Given the description of an element on the screen output the (x, y) to click on. 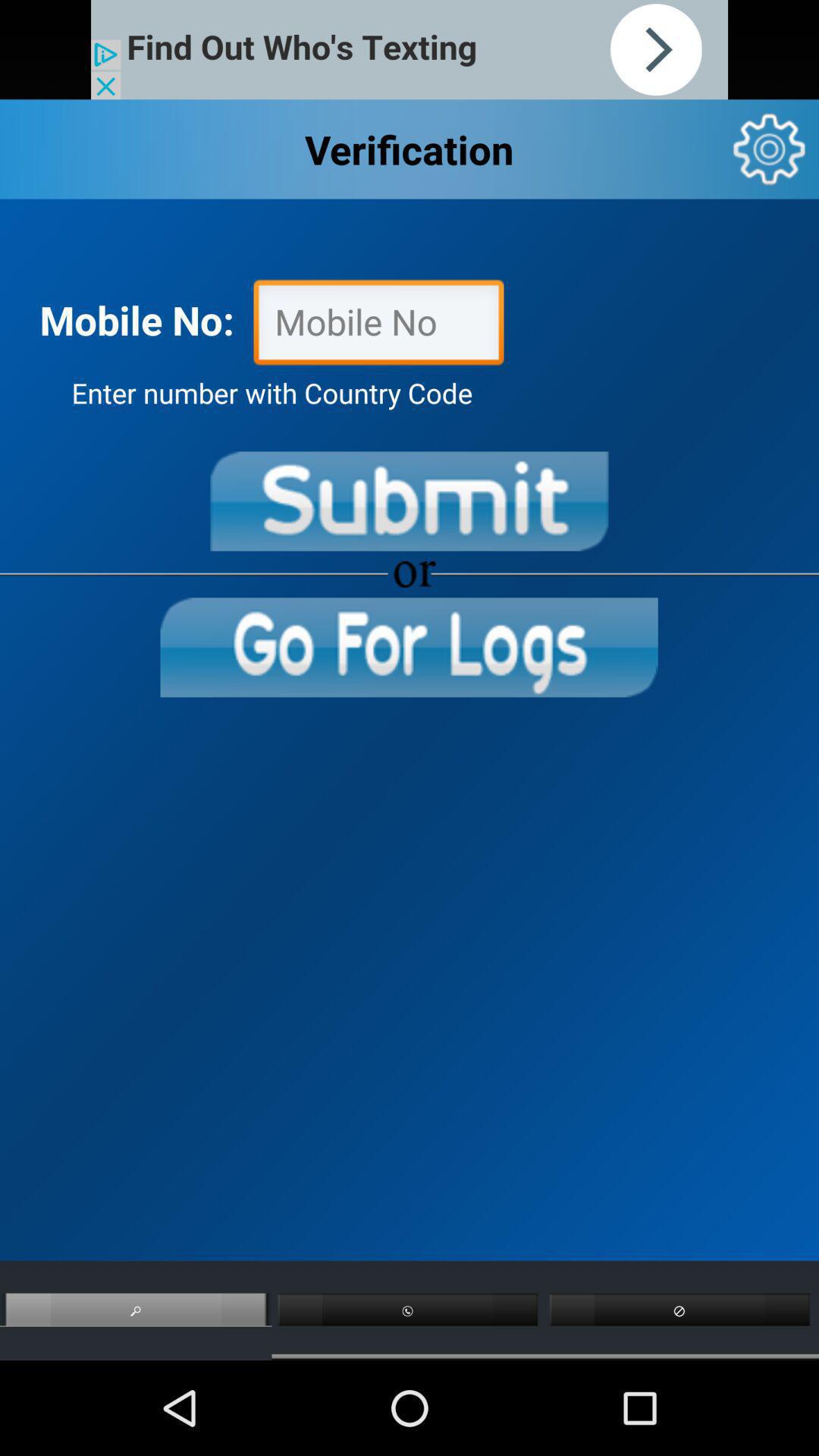
go to advertisement (409, 49)
